Given the description of an element on the screen output the (x, y) to click on. 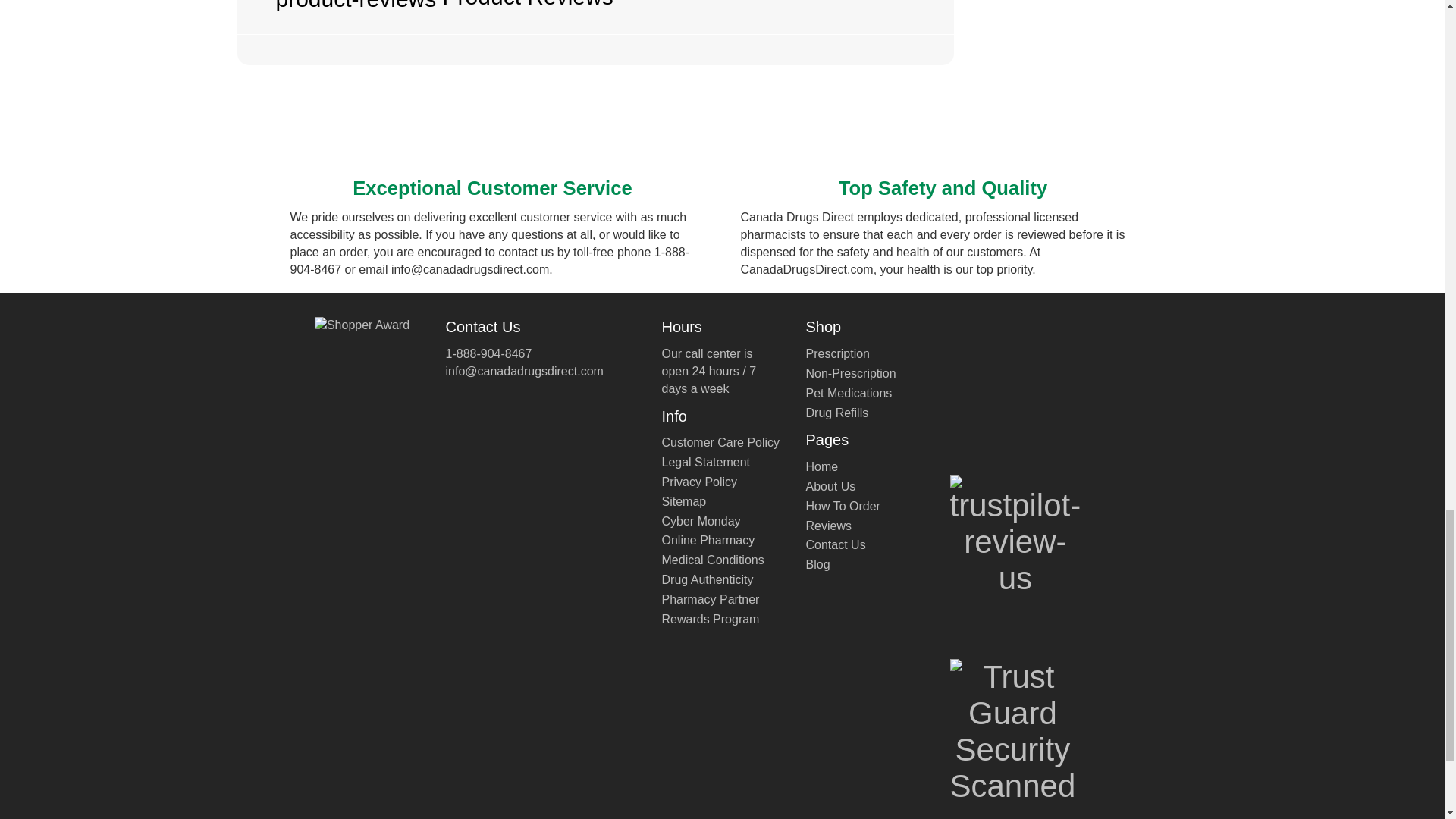
Product Reviews (594, 17)
